Given the description of an element on the screen output the (x, y) to click on. 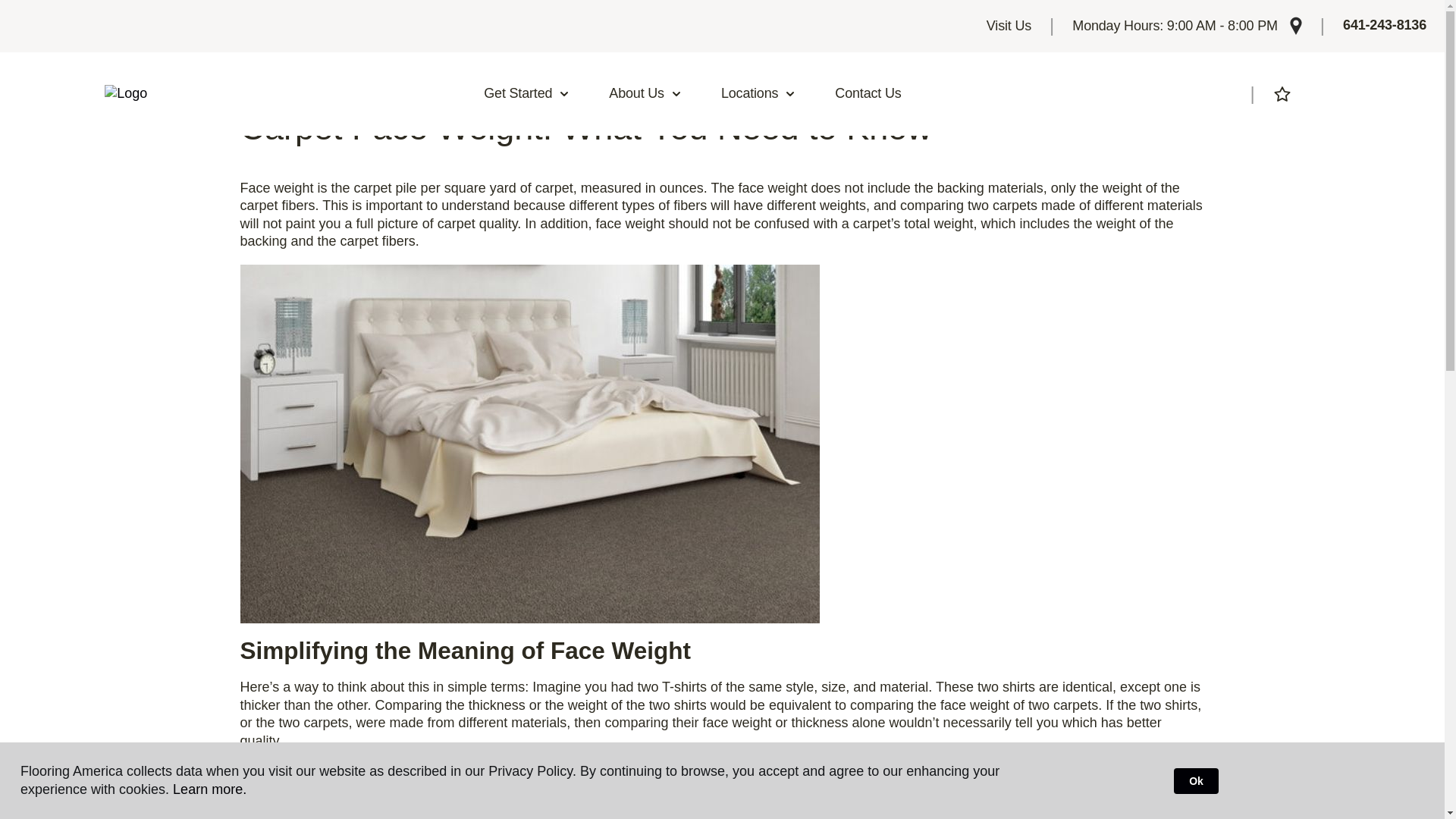
Contact Us (867, 94)
About Us (645, 94)
Visit Us (1008, 26)
Locations (758, 94)
641-243-8136 (1384, 25)
Get Started (526, 94)
